Given the description of an element on the screen output the (x, y) to click on. 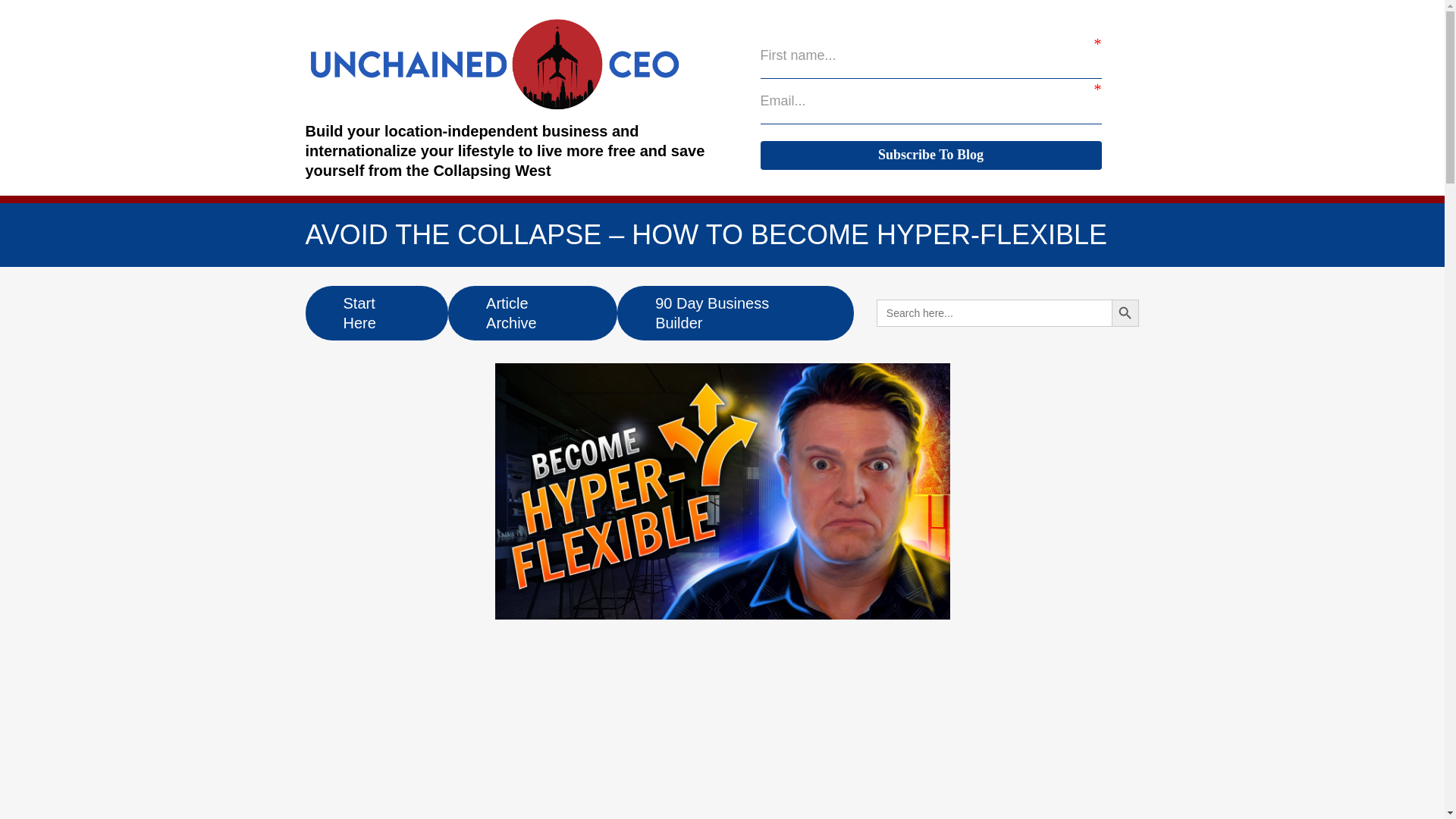
Start Here (376, 312)
Article Archive (532, 312)
How To Survive The Coming Dark Age - Hyper Flexible (706, 759)
90 Day Business Builder (735, 312)
Search Button (1125, 312)
Subscribe To Blog (930, 154)
